Given the description of an element on the screen output the (x, y) to click on. 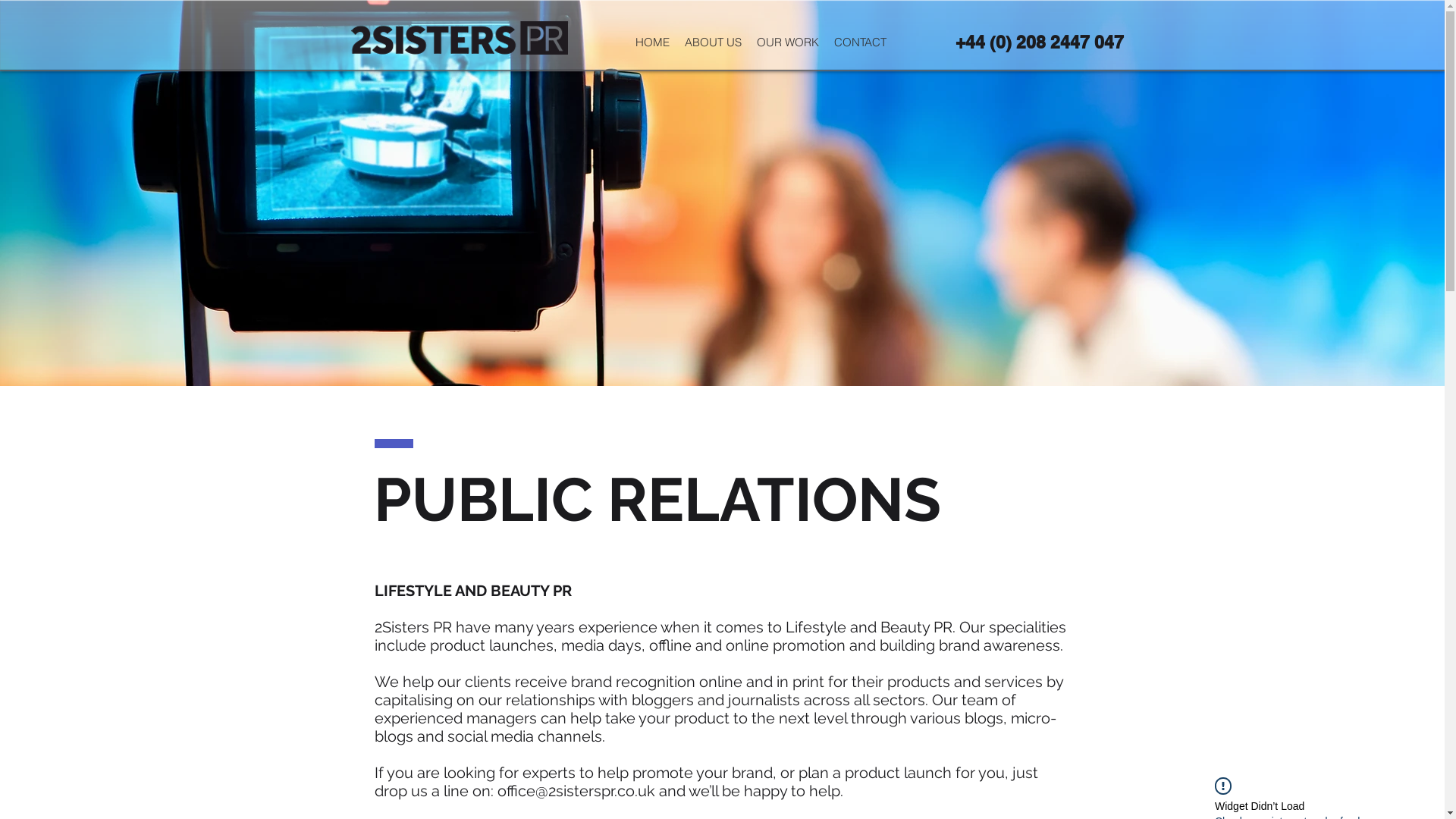
HOME Element type: text (652, 42)
office@2sisterspr.co.uk Element type: text (576, 790)
OUR WORK Element type: text (787, 42)
ABOUT US Element type: text (712, 42)
CONTACT Element type: text (860, 42)
